Given the description of an element on the screen output the (x, y) to click on. 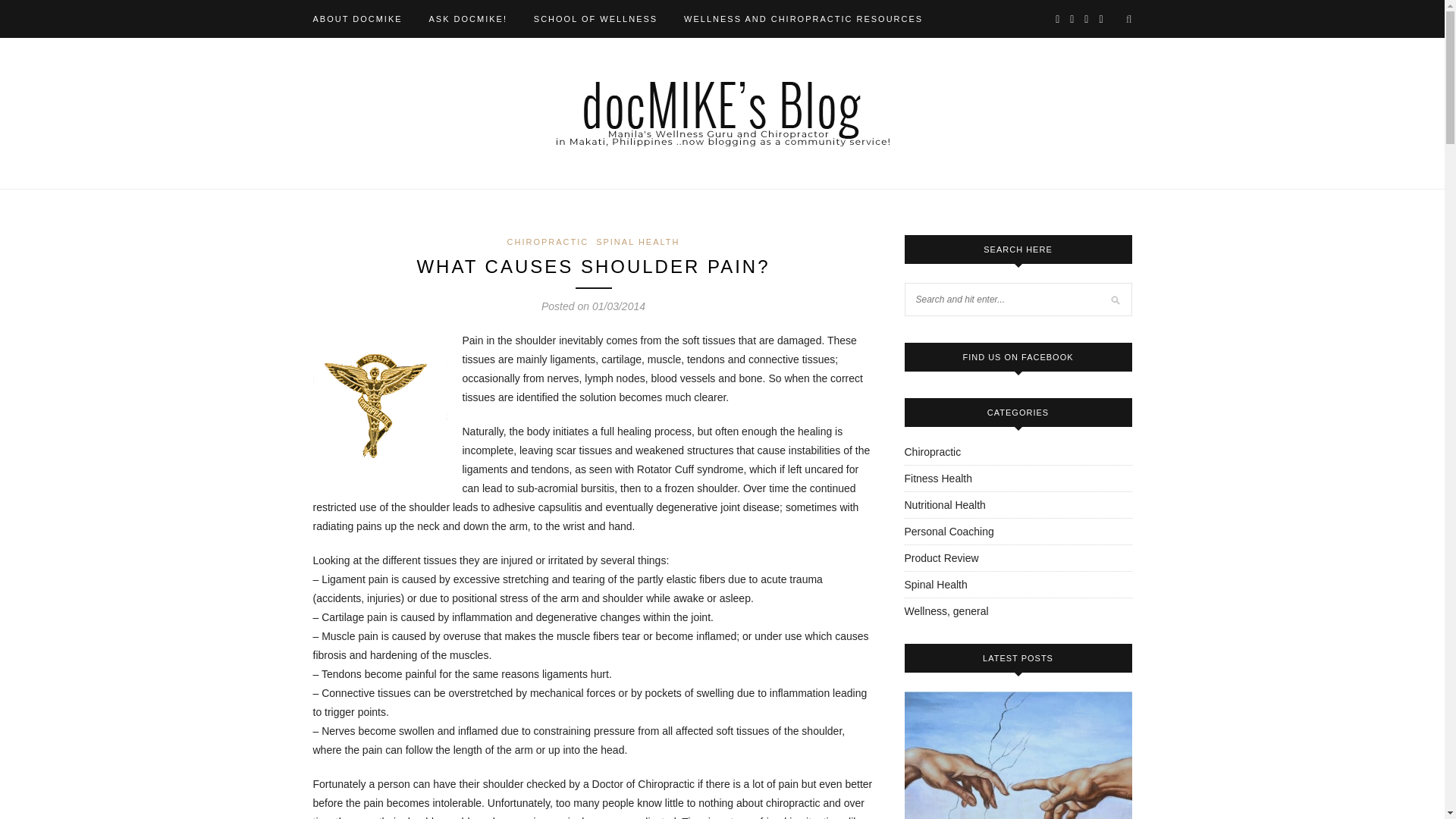
Chiropractic (932, 451)
CHIROPRACTIC (547, 241)
ASK DOCMIKE! (467, 18)
Personal Coaching (948, 531)
Fitness Health (937, 478)
ABOUT DOCMIKE (357, 18)
SPINAL HEALTH (637, 241)
Product Review (941, 558)
SCHOOL OF WELLNESS (596, 18)
WELLNESS AND CHIROPRACTIC RESOURCES (803, 18)
Nutritional Health (944, 504)
